Given the description of an element on the screen output the (x, y) to click on. 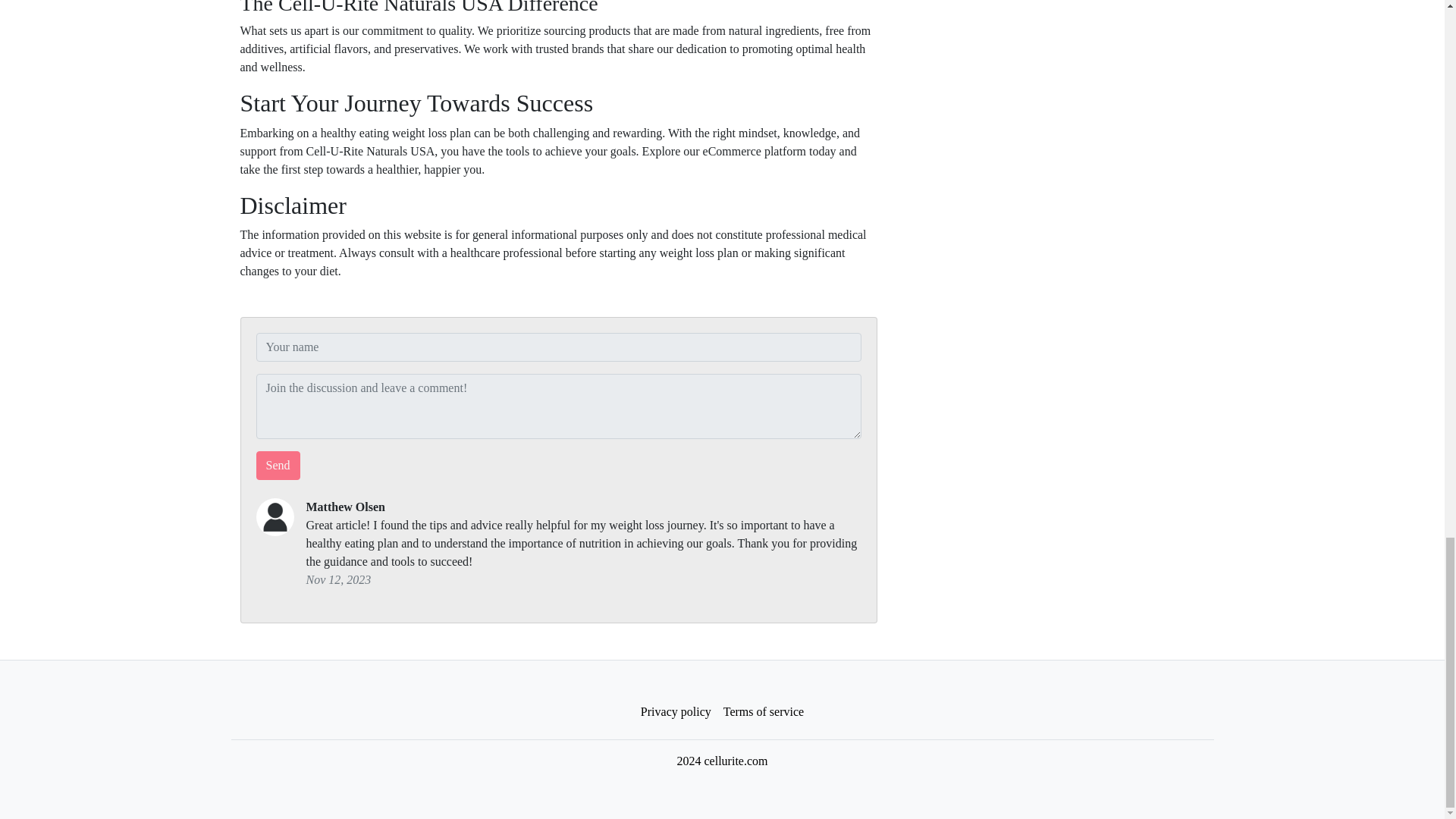
Send (277, 465)
Terms of service (763, 711)
Send (277, 465)
Privacy policy (675, 711)
